Given the description of an element on the screen output the (x, y) to click on. 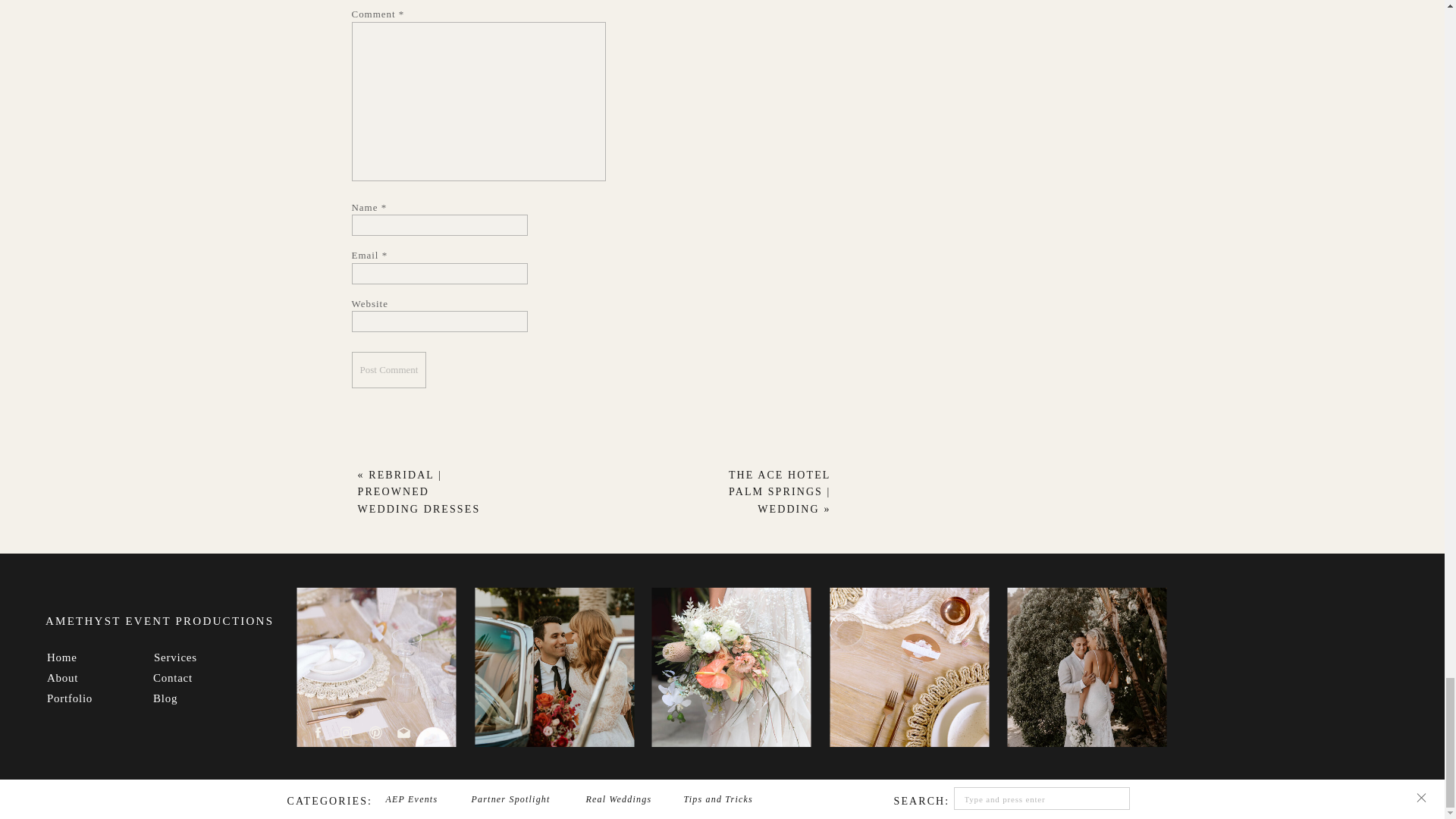
Blog (188, 695)
Portfolio (82, 695)
Post Comment (389, 370)
About (82, 674)
Post Comment (389, 370)
Services (189, 654)
Contact (188, 674)
Home (82, 654)
